Given the description of an element on the screen output the (x, y) to click on. 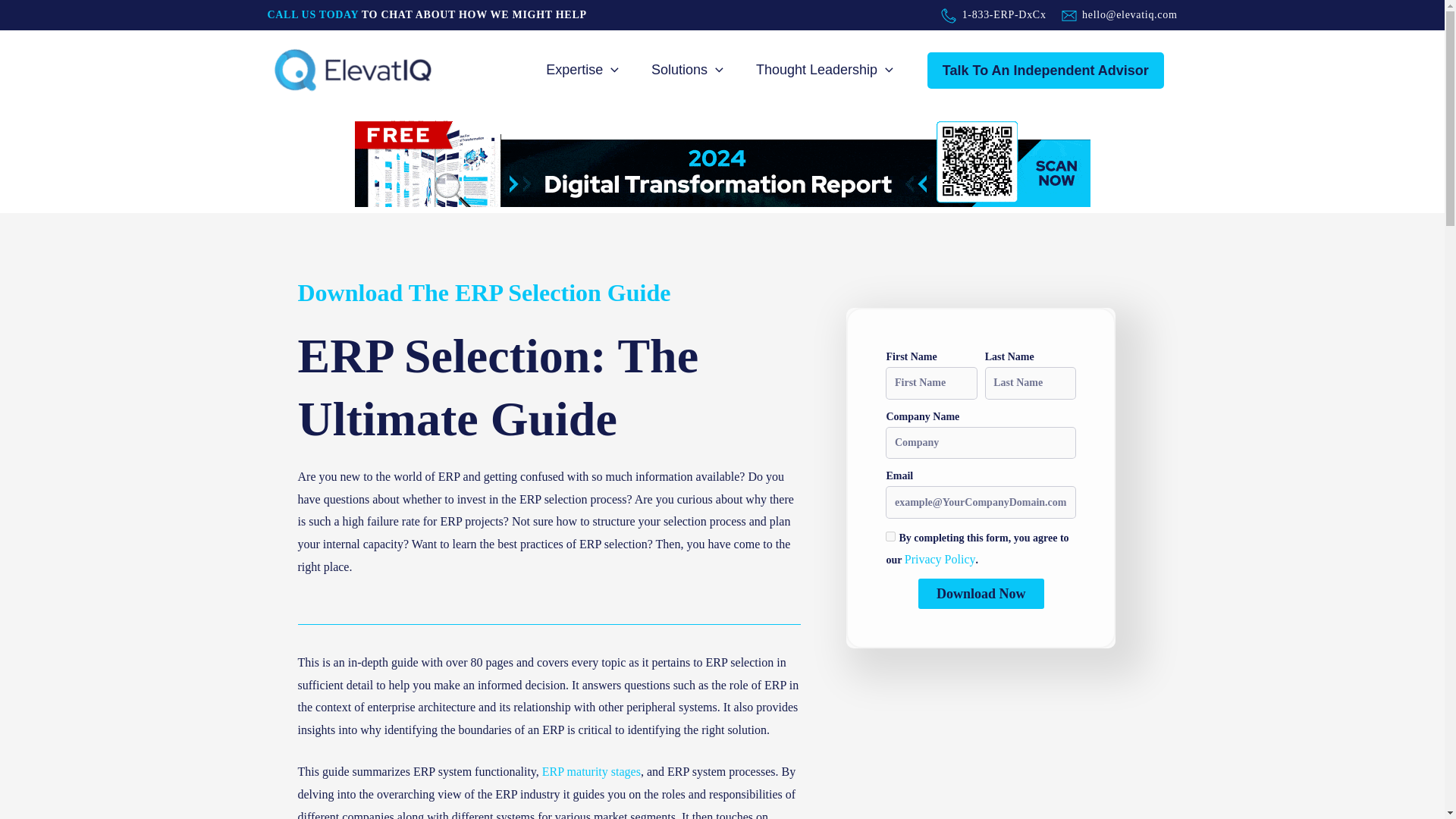
Expertise (584, 69)
on (890, 536)
